Given the description of an element on the screen output the (x, y) to click on. 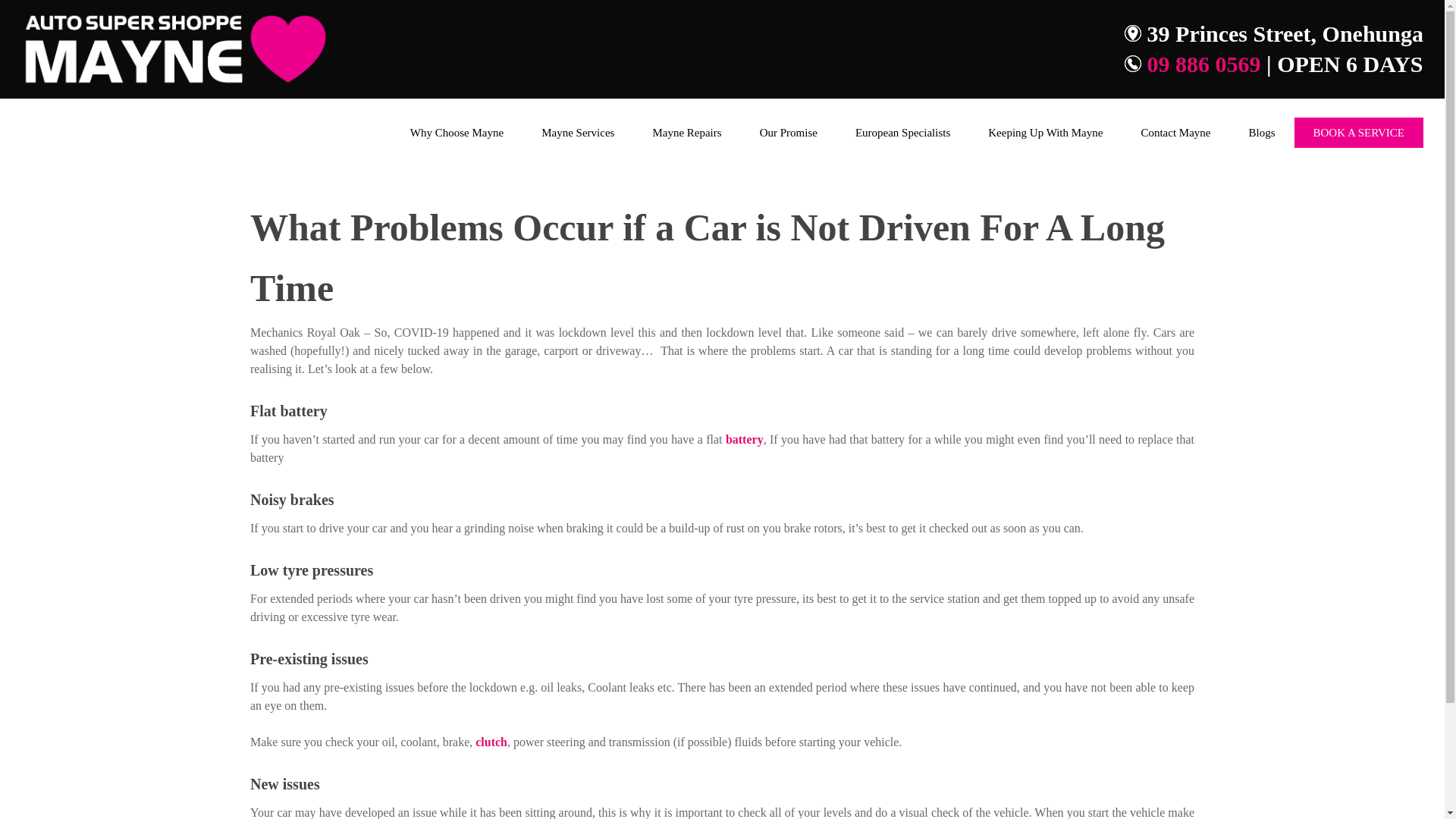
Mayne Services (577, 132)
09 886 0569 (1203, 63)
Mayne Repairs (686, 132)
Why Choose Mayne (456, 132)
